Given the description of an element on the screen output the (x, y) to click on. 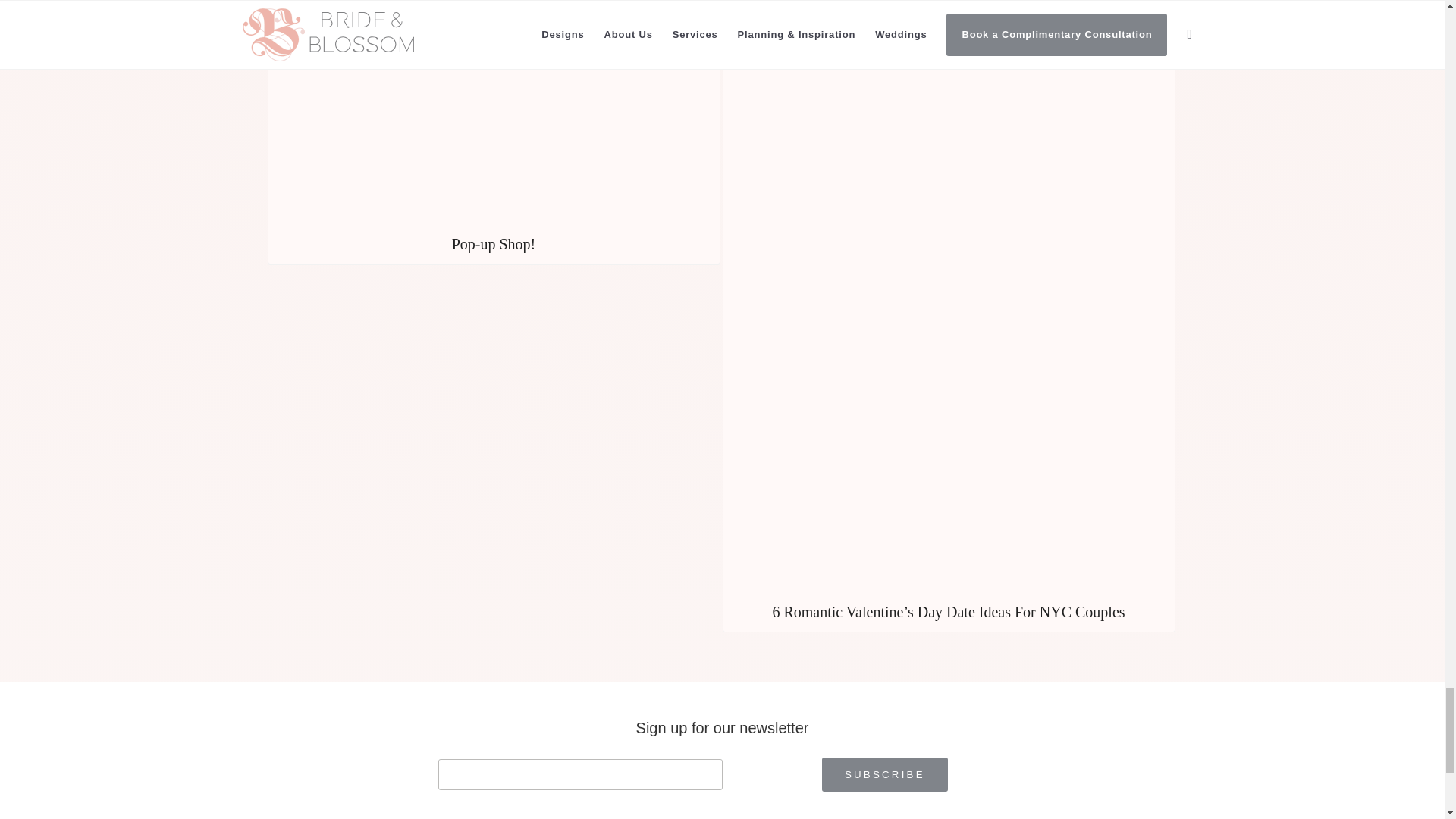
Subscribe (884, 774)
Subscribe (884, 774)
Pop-up Shop! (492, 132)
